Given the description of an element on the screen output the (x, y) to click on. 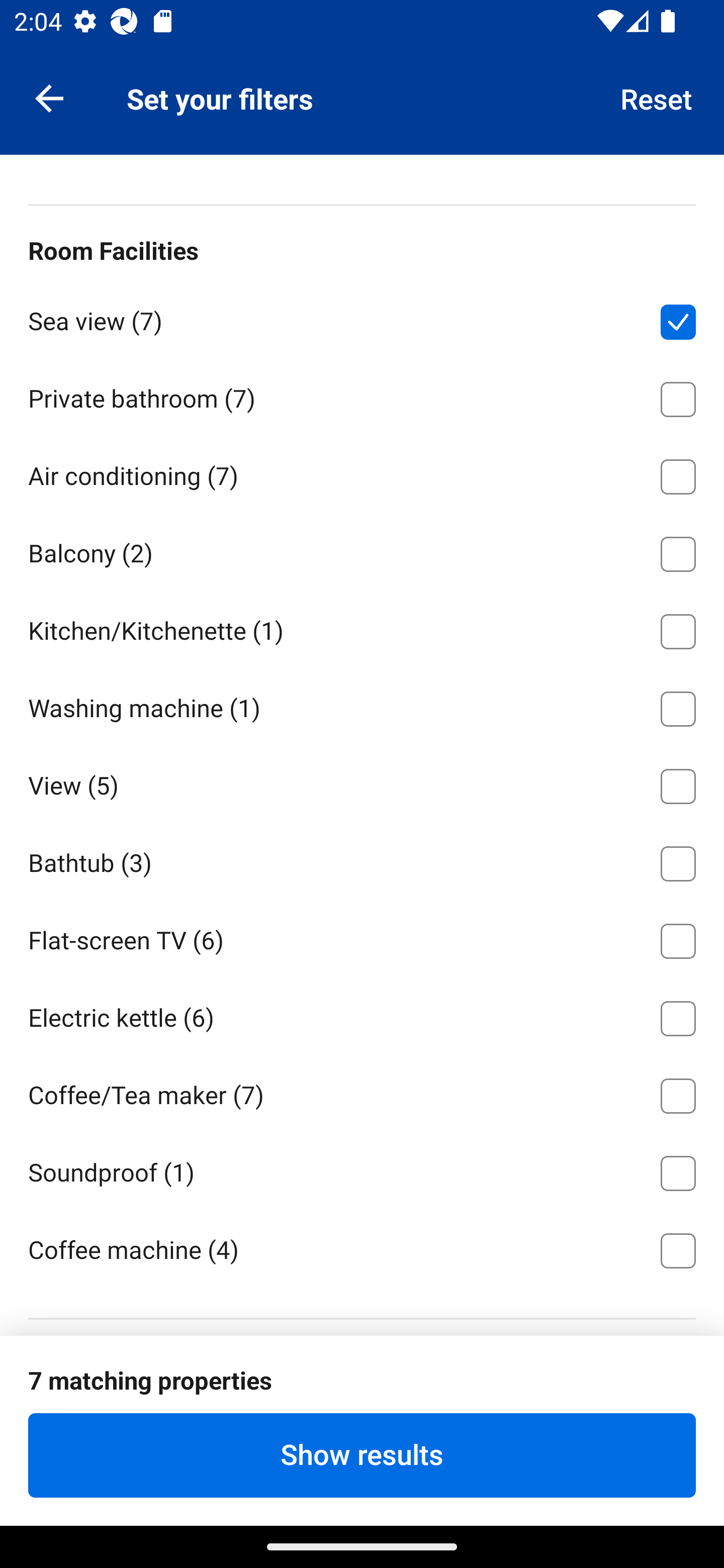
Navigate up (49, 97)
Reset (656, 97)
Sea view ⁦(7) (361, 318)
Private bathroom ⁦(7) (361, 395)
Air conditioning ⁦(7) (361, 473)
Balcony ⁦(2) (361, 550)
Kitchen/Kitchenette ⁦(1) (361, 627)
Washing machine ⁦(1) (361, 705)
View ⁦(5) (361, 782)
Bathtub ⁦(3) (361, 859)
Flat-screen TV ⁦(6) (361, 937)
Electric kettle ⁦(6) (361, 1014)
Coffee/Tea maker ⁦(7) (361, 1091)
Soundproof ⁦(1) (361, 1169)
Coffee machine ⁦(4) (361, 1248)
Show results (361, 1454)
